Given the description of an element on the screen output the (x, y) to click on. 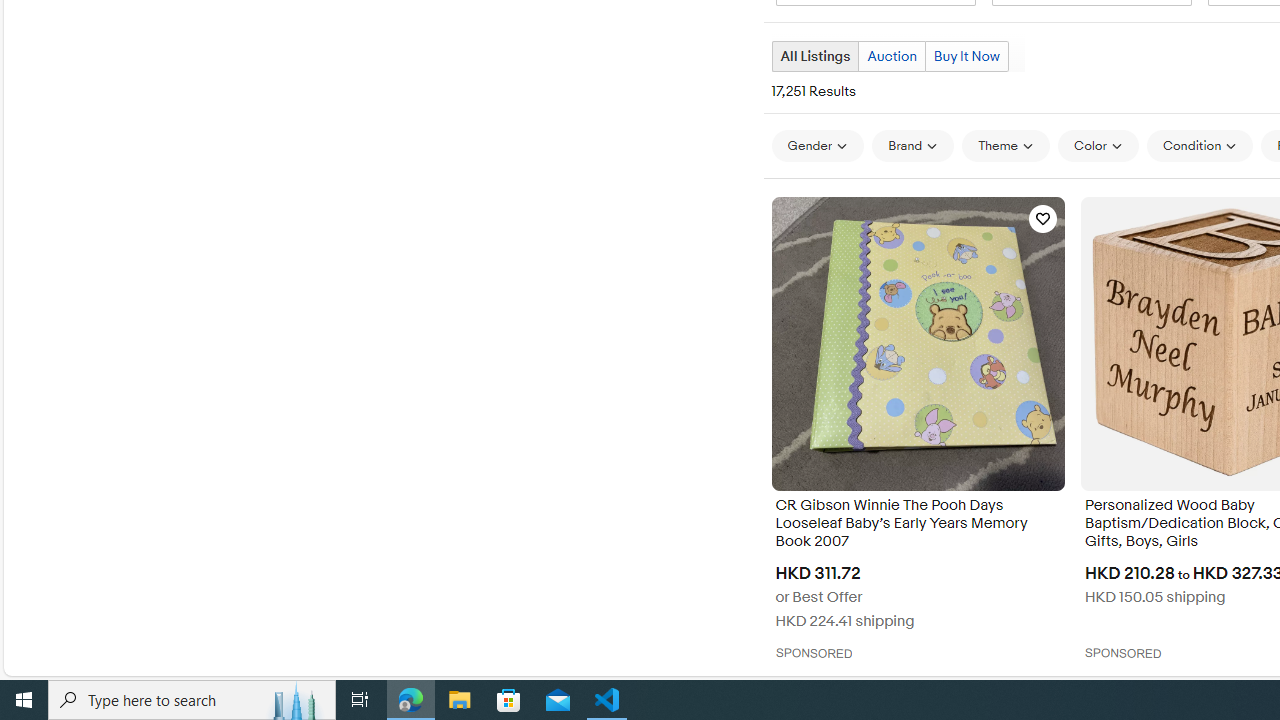
Brand (912, 146)
Theme (1006, 145)
Theme (1006, 146)
Color (1098, 146)
All Listings (814, 56)
Condition (1199, 146)
Brand (912, 145)
Auction (891, 56)
Buy It Now (966, 56)
Buy It Now (966, 56)
Gender (817, 145)
Gender (817, 146)
